Given the description of an element on the screen output the (x, y) to click on. 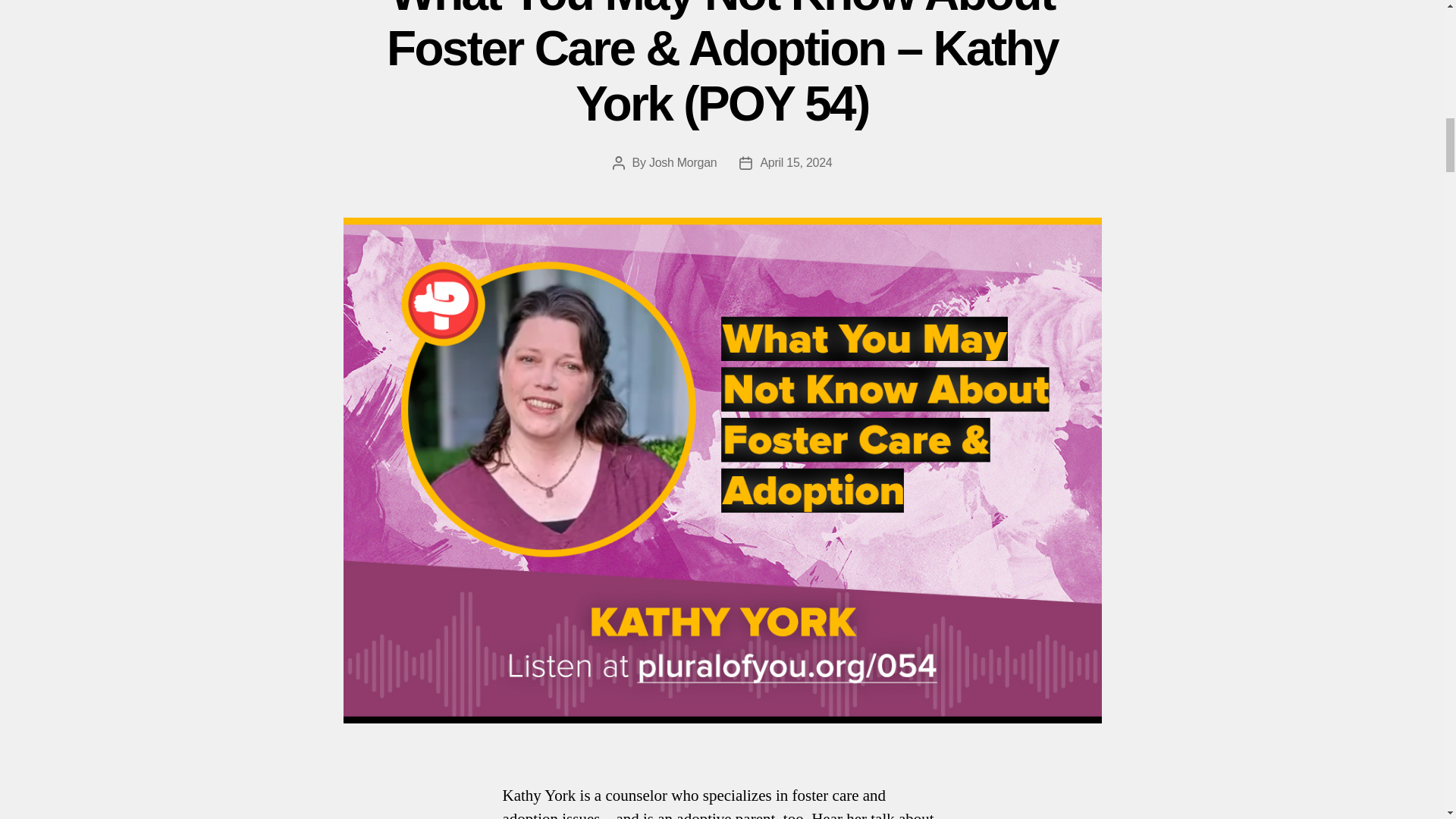
Josh Morgan (683, 162)
April 15, 2024 (795, 162)
